Given the description of an element on the screen output the (x, y) to click on. 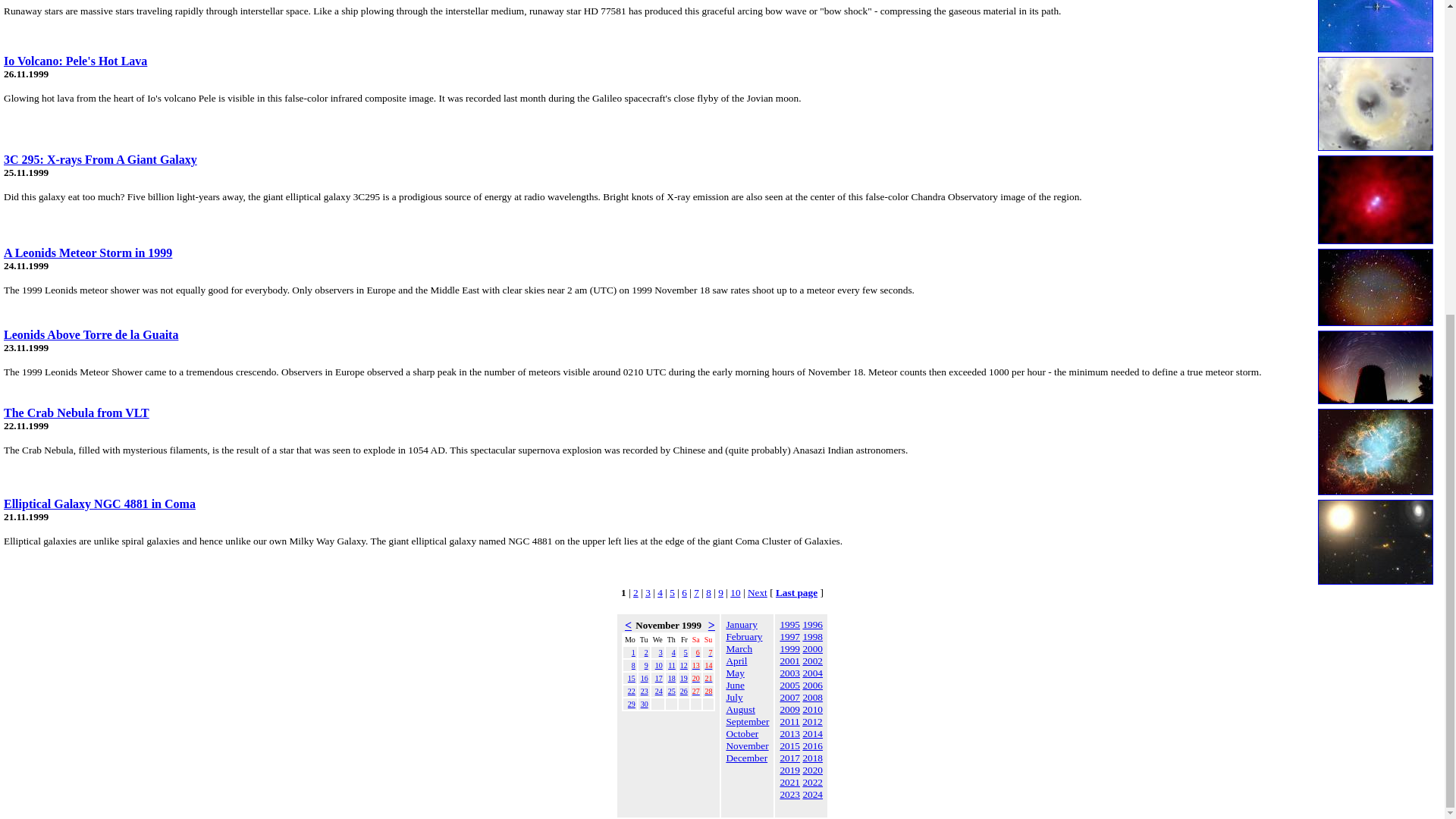
The Crab Nebula from VLT (76, 412)
Next (757, 592)
Elliptical Galaxy NGC 4881 in Coma (99, 503)
Last page (796, 592)
Io Volcano: Pele's Hot Lava (75, 60)
Leonids Above Torre de la Guaita (90, 334)
A Leonids Meteor Storm in 1999 (87, 252)
3C 295: X-rays From A Giant Galaxy (100, 159)
